Given the description of an element on the screen output the (x, y) to click on. 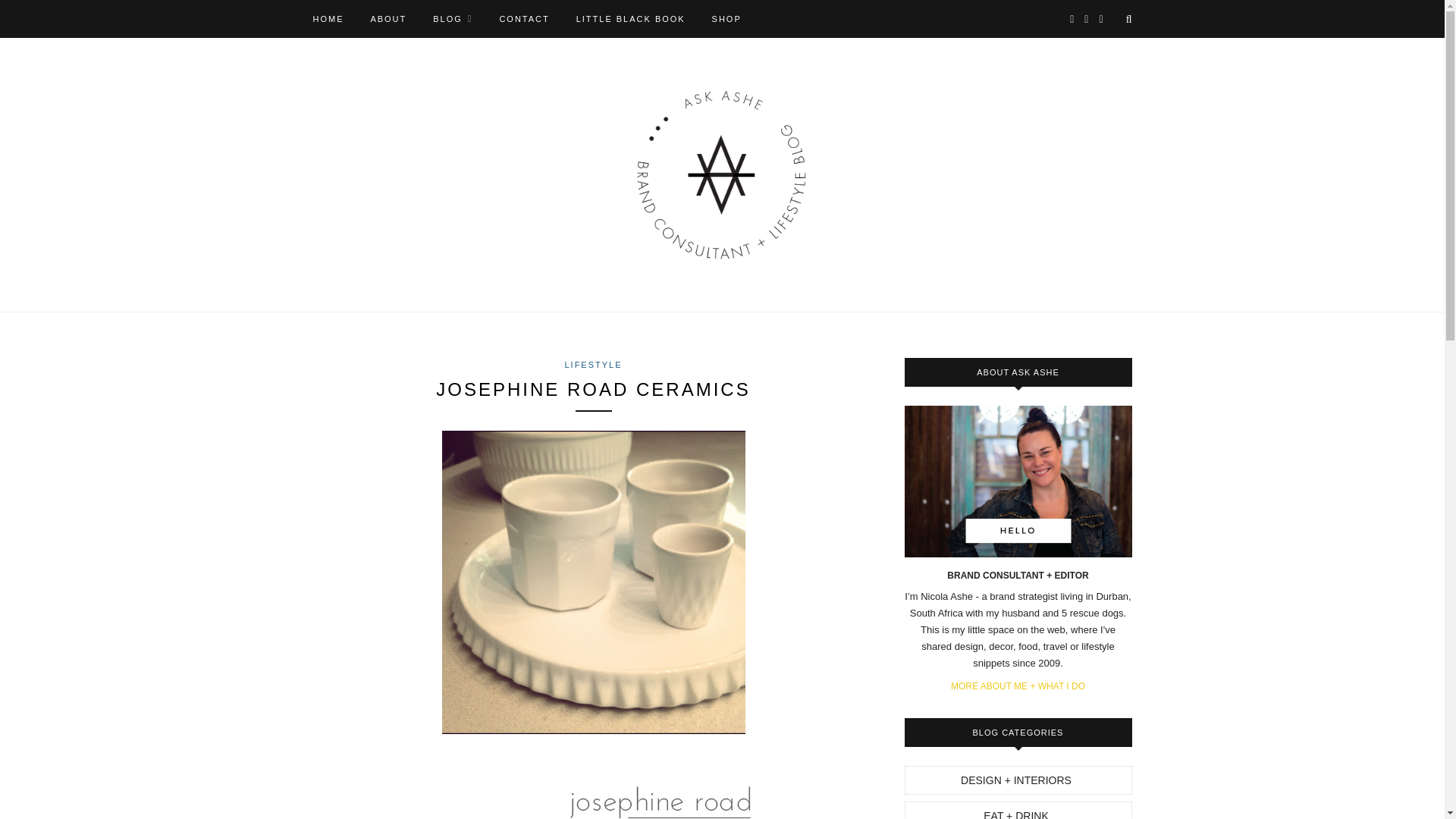
LITTLE BLACK BOOK (630, 18)
CONTACT (523, 18)
BLOG (451, 18)
LIFESTYLE (592, 364)
ABOUT (387, 18)
